Given the description of an element on the screen output the (x, y) to click on. 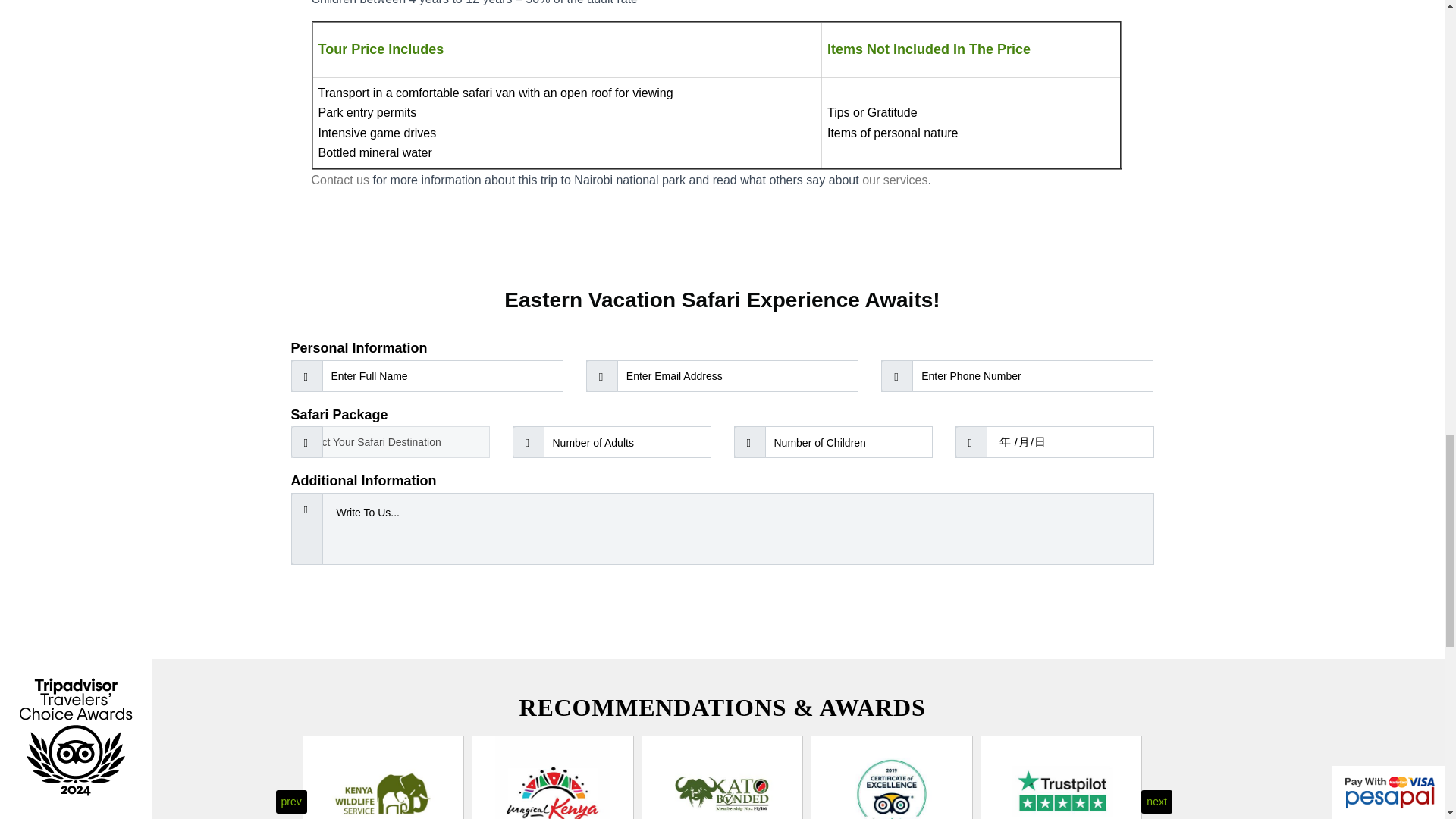
Contact us (339, 179)
our services (894, 179)
Book Your Safari (722, 604)
Book Your Safari (722, 604)
